Given the description of an element on the screen output the (x, y) to click on. 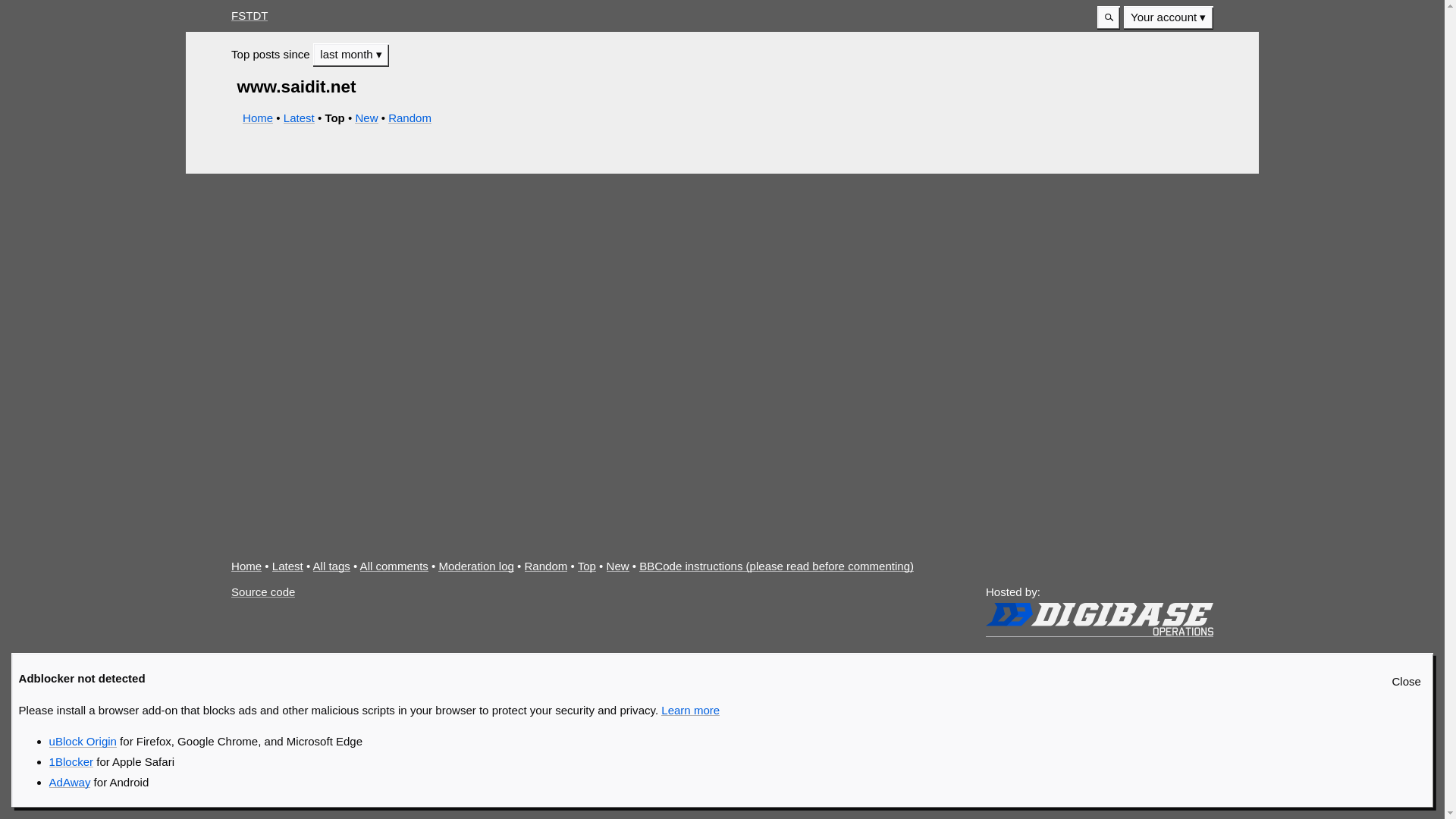
1Blocker (71, 761)
Random (409, 117)
Learn more (690, 709)
Latest (298, 117)
Random (545, 565)
Source code (263, 591)
Home (246, 565)
Moderation log (475, 565)
Digibase Operations (1098, 618)
All tags (331, 565)
